Given the description of an element on the screen output the (x, y) to click on. 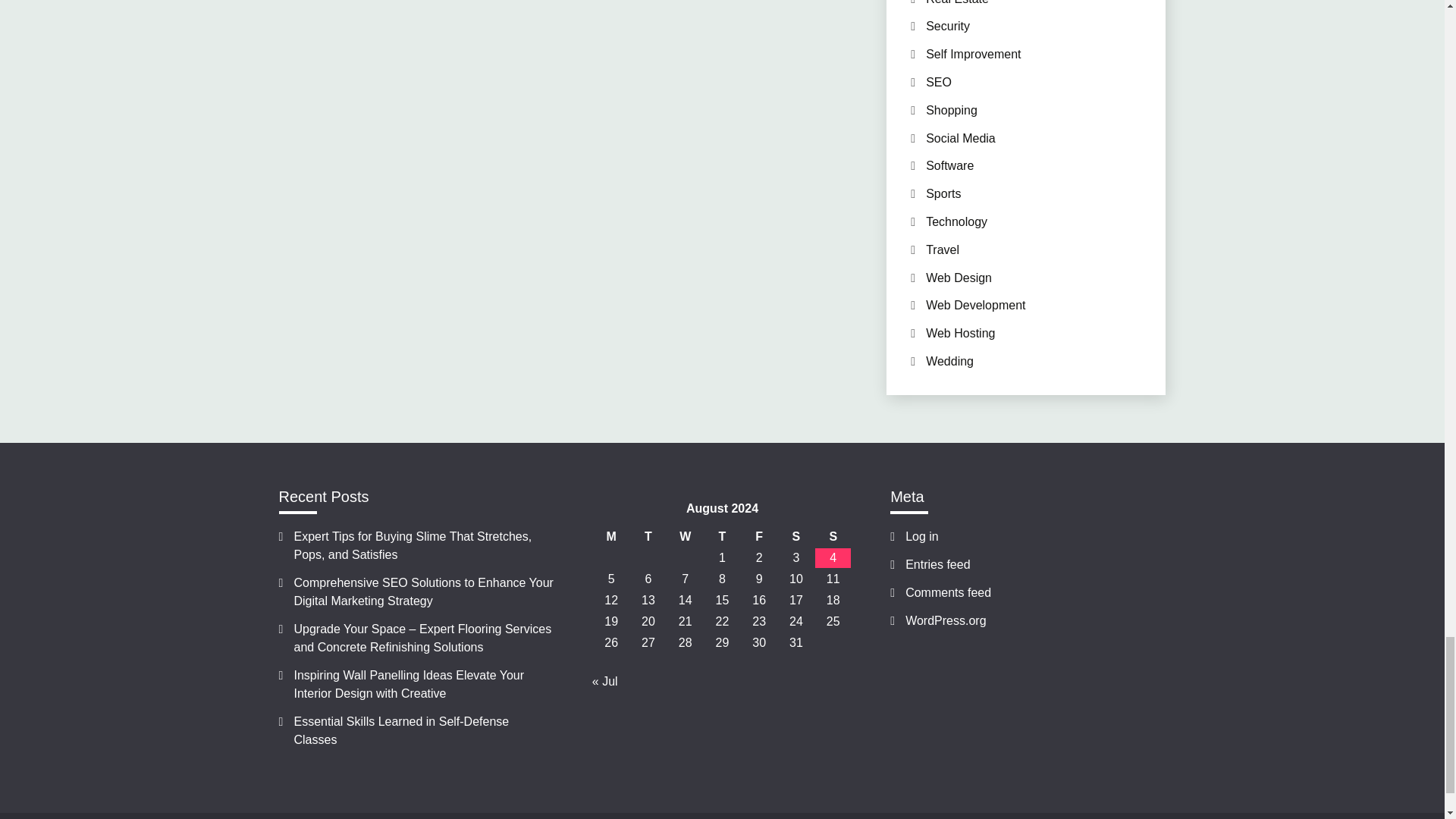
Saturday (795, 537)
Friday (759, 537)
Tuesday (648, 537)
Monday (611, 537)
Wednesday (684, 537)
Thursday (721, 537)
Sunday (832, 537)
